Given the description of an element on the screen output the (x, y) to click on. 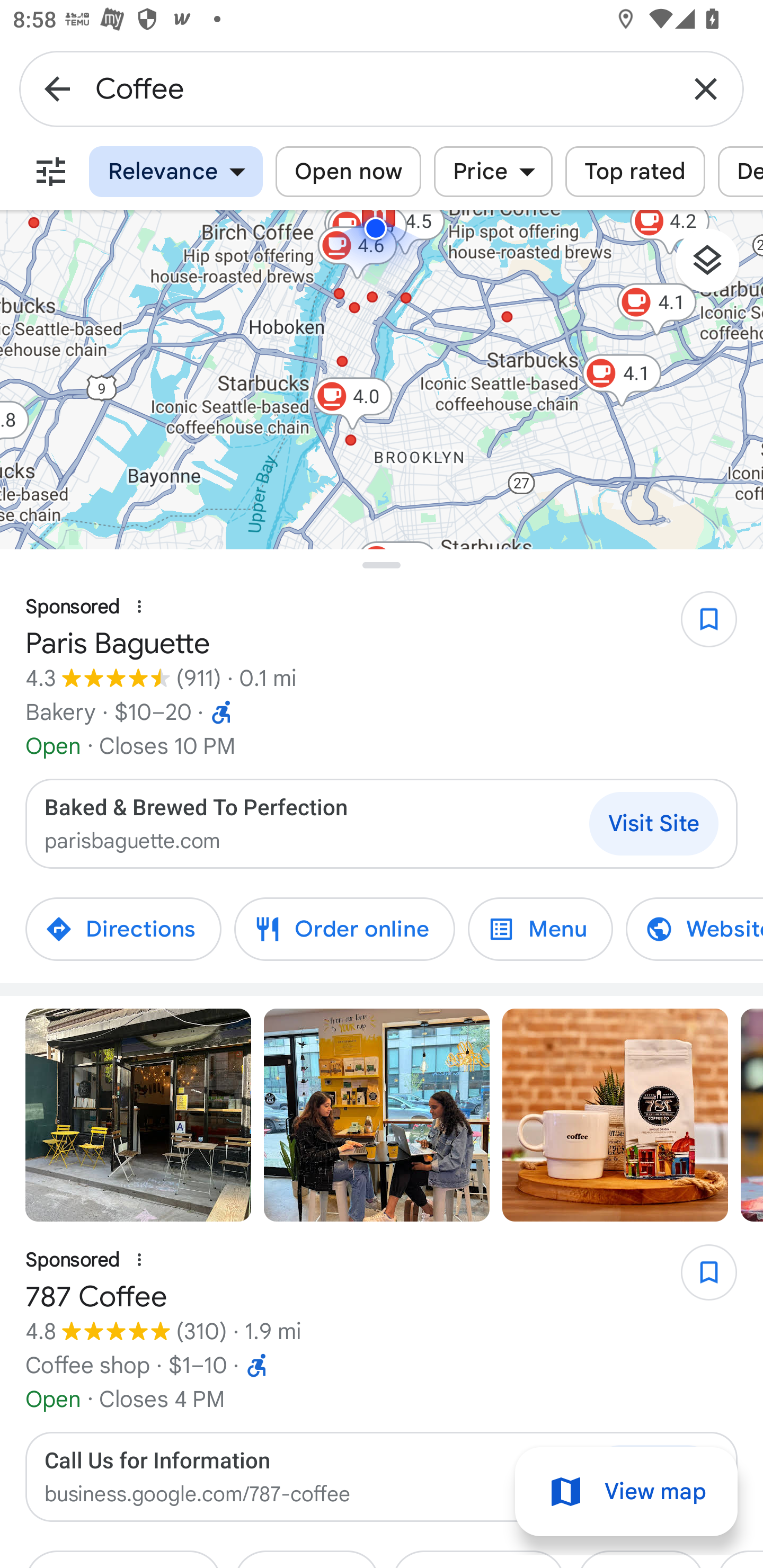
Back (57, 88)
Coffee (381, 88)
Clear (705, 88)
More filters (50, 171)
Relevance Relevance Relevance (175, 171)
Open now Open now Open now (348, 171)
Price Price Price (493, 171)
Top rated Top rated Top rated (635, 171)
Layers (716, 267)
About this ad (139, 606)
Save Paris Baguette to lists (699, 625)
Order online Order online Order online (344, 928)
Paris Baguette Menu Menu Paris Baguette Menu (539, 928)
Website (681, 928)
Photo (138, 1114)
Photo (376, 1114)
Photo (614, 1114)
About this ad (139, 1259)
Save 787 Coffee to lists (699, 1278)
View map Map view (626, 1491)
